Given the description of an element on the screen output the (x, y) to click on. 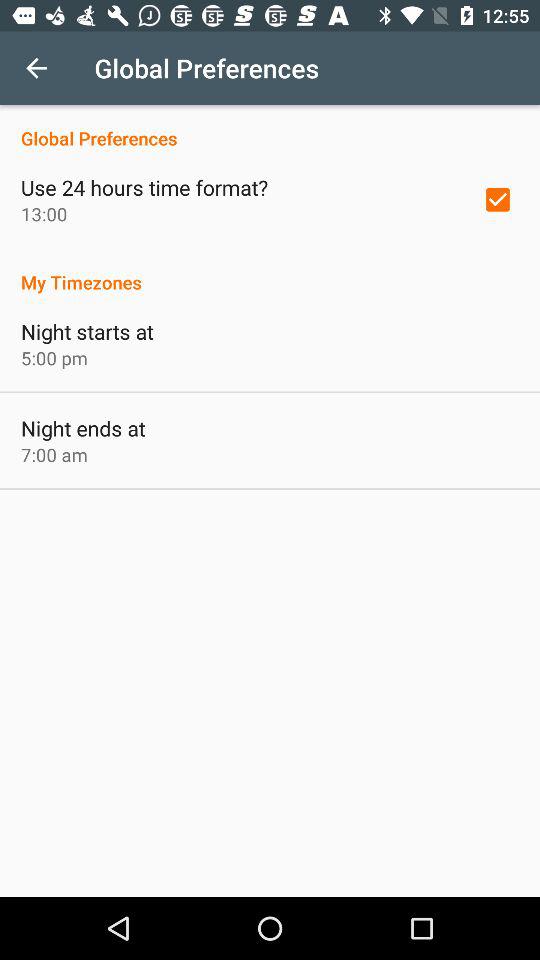
choose the icon below 13:00 icon (270, 271)
